Given the description of an element on the screen output the (x, y) to click on. 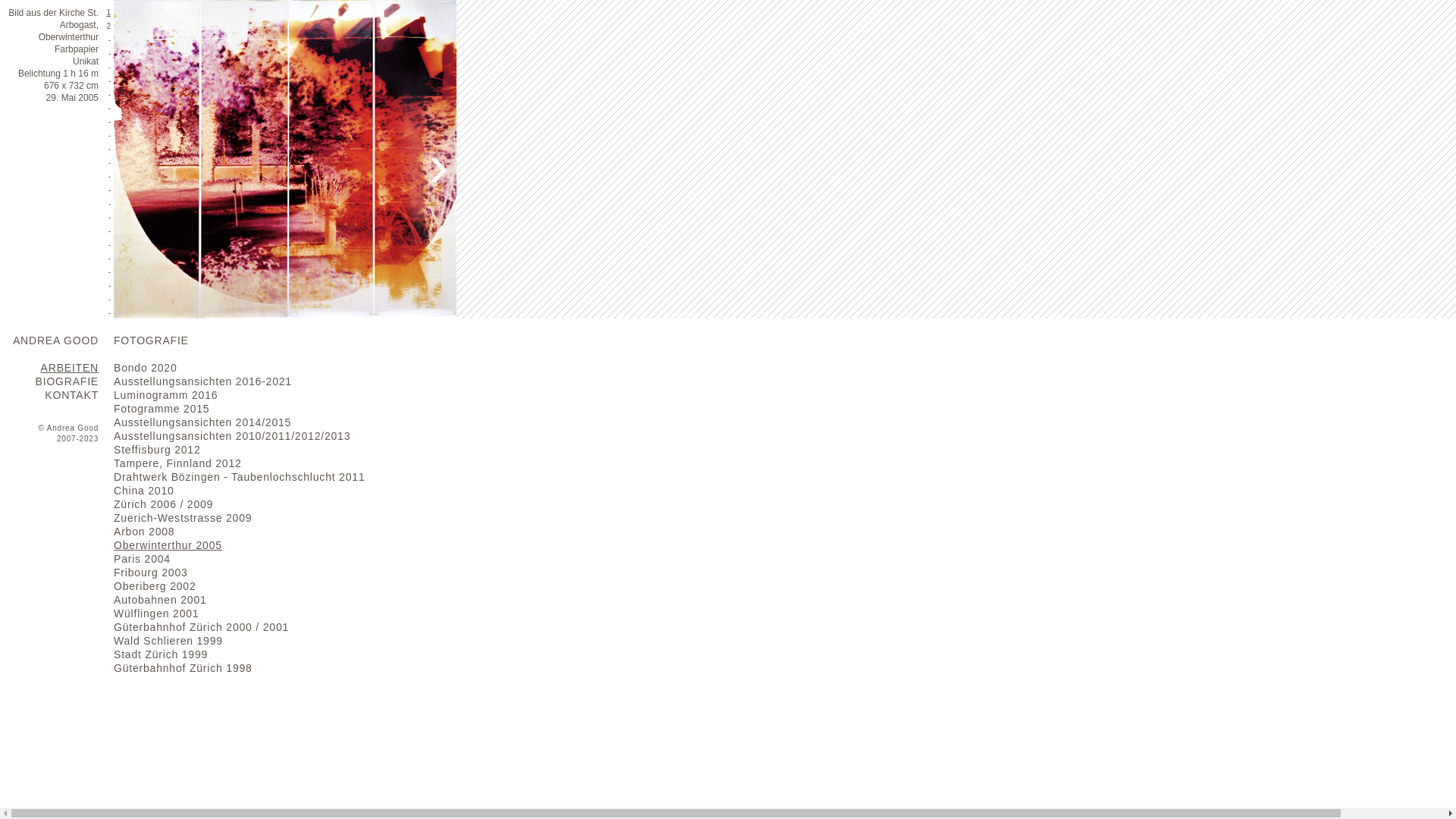
Oberwinterthur 2005 Element type: text (167, 545)
China 2010 Element type: text (143, 490)
Bondo 2020 Element type: text (145, 367)
Zuerich-Weststrasse 2009 Element type: text (182, 517)
Autobahnen 2001 Element type: text (160, 599)
BIOGRAFIE Element type: text (66, 381)
1 Element type: text (108, 12)
FOTOGRAFIE Element type: text (150, 340)
ARBEITEN Element type: text (69, 367)
ANDREA GOOD Element type: text (55, 340)
Steffisburg 2012 Element type: text (156, 449)
Tampere, Finnland 2012 Element type: text (177, 463)
Fotogramme 2015 Element type: text (161, 408)
Ausstellungsansichten 2010/2011/2012/2013 Element type: text (231, 435)
Oberiberg 2002 Element type: text (154, 586)
Wald Schlieren 1999 Element type: text (167, 640)
KONTAKT Element type: text (71, 395)
Luminogramm 2016 Element type: text (165, 395)
Fribourg 2003 Element type: text (150, 572)
2 Element type: text (108, 25)
Ausstellungsansichten 2016-2021 Element type: text (202, 381)
Ausstellungsansichten 2014/2015 Element type: text (202, 422)
Paris 2004 Element type: text (141, 558)
Arbon 2008 Element type: text (143, 531)
